Given the description of an element on the screen output the (x, y) to click on. 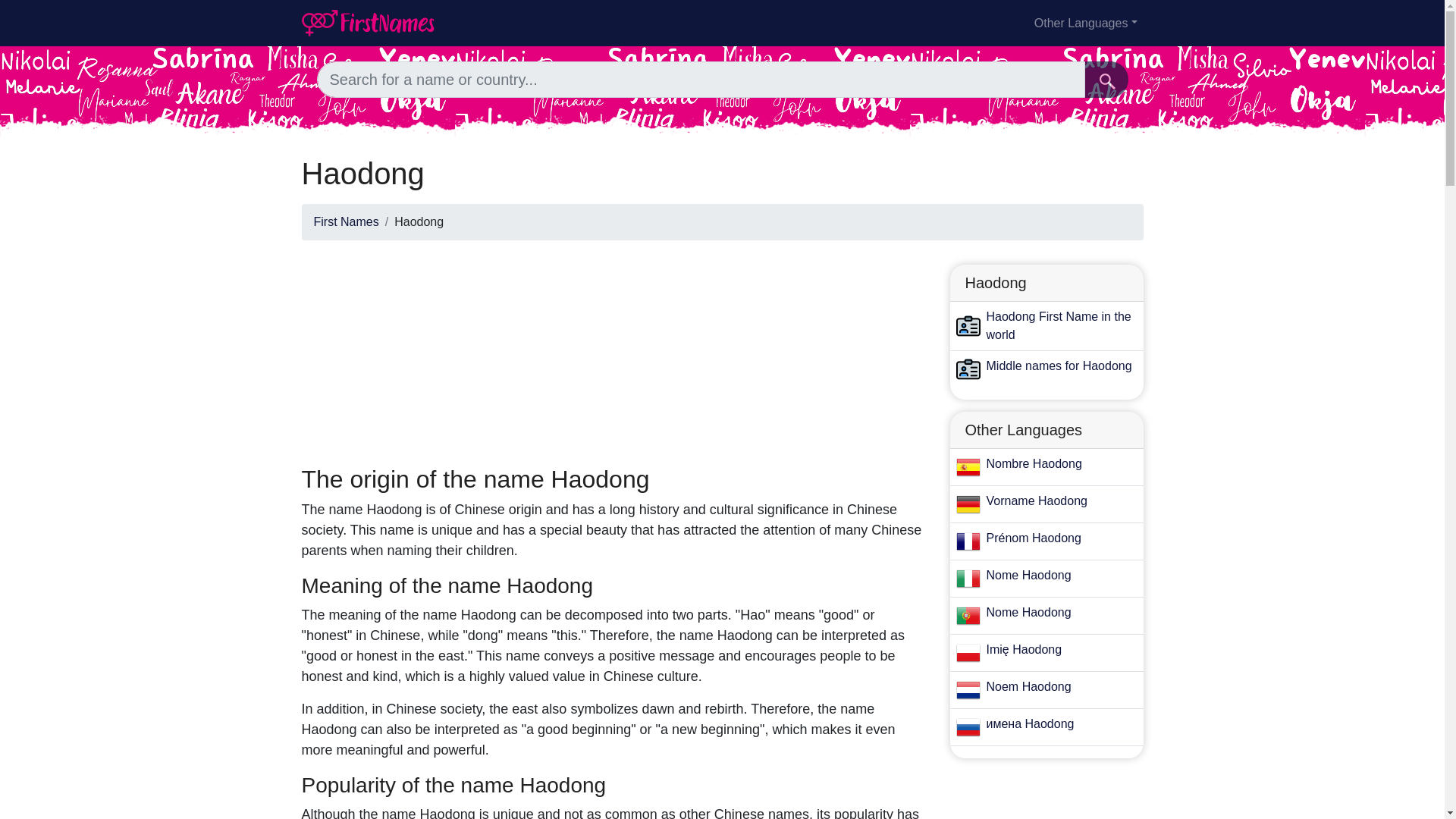
Nombre Haodong (1033, 463)
First Names (346, 221)
Noem Haodong (1027, 686)
Nome Haodong (1027, 574)
Nome Haodong (1027, 612)
Haodong First Name in the world (1058, 325)
Other Languages (1084, 22)
Middle names for Haodong (1058, 365)
Vorname Haodong (1035, 500)
